Given the description of an element on the screen output the (x, y) to click on. 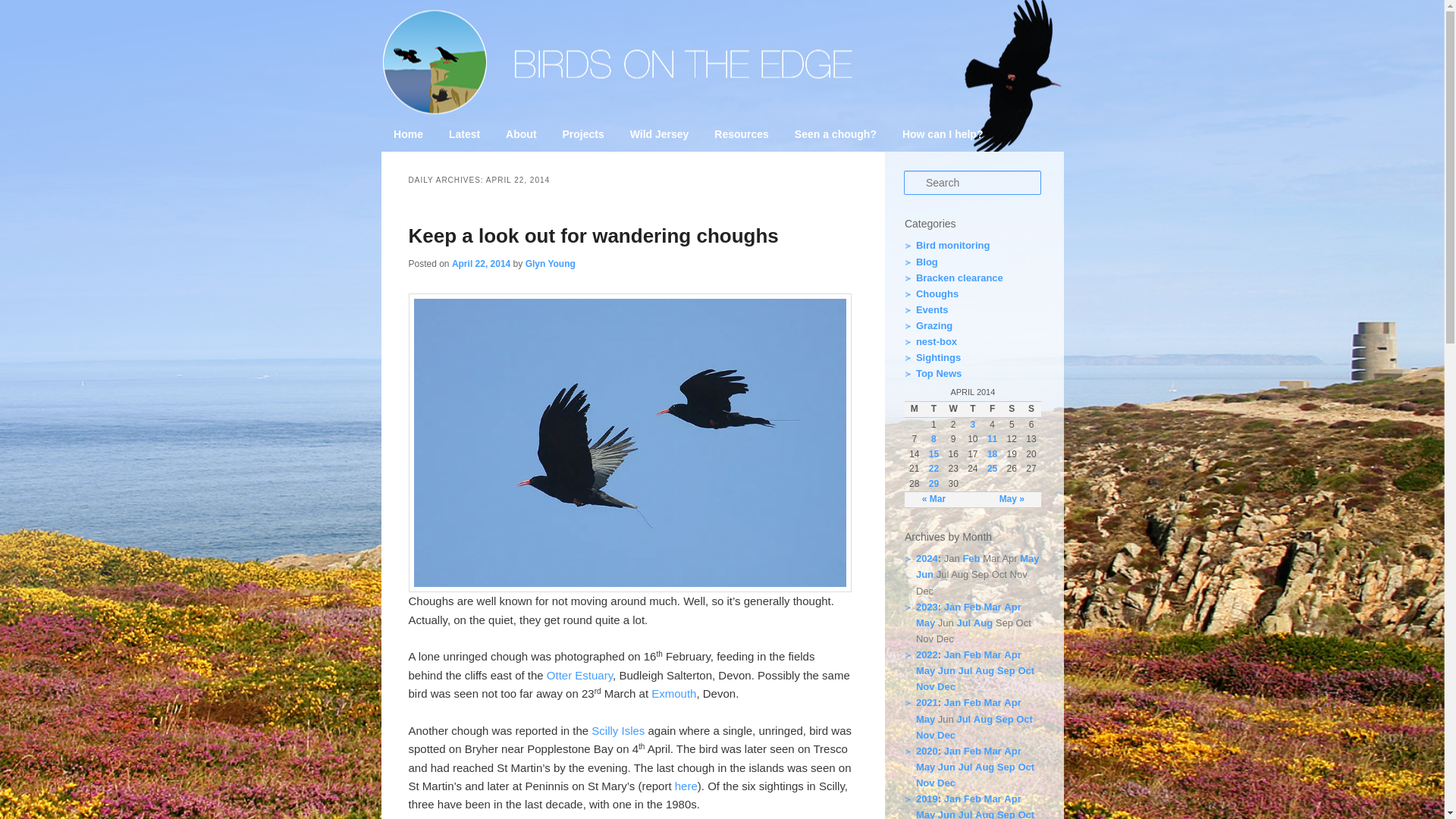
08:27 (481, 263)
Chough in the Isles of Scilly (686, 785)
Skip to primary content (462, 135)
Wild Jersey (659, 134)
Red-billed choughs. Photo by Mick Dryden (630, 442)
Skip to secondary content (469, 135)
View all posts by Glyn Young (550, 263)
Skip to primary content (462, 135)
Home (407, 134)
Tuesday (933, 409)
Projects (583, 134)
About (520, 134)
Permalink to Keep a look out for wandering choughs (592, 235)
Latest (464, 134)
Birds on the edge (476, 206)
